Given the description of an element on the screen output the (x, y) to click on. 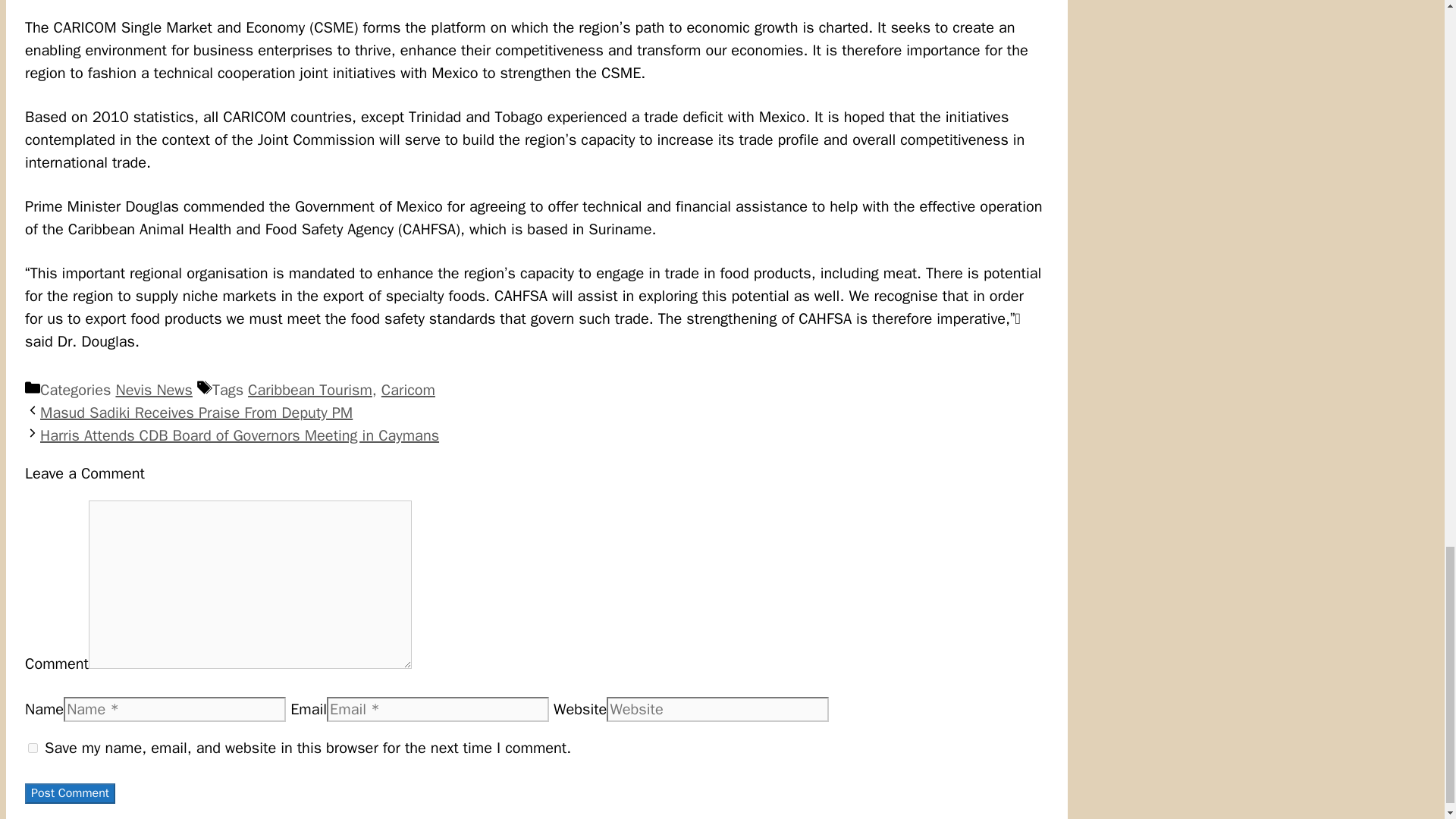
Post Comment (69, 792)
Caricom (408, 389)
Post Comment (69, 792)
Harris Attends CDB Board of Governors Meeting in Caymans (239, 435)
Nevis News (153, 389)
yes (32, 747)
Caribbean Tourism (309, 389)
Masud Sadiki Receives Praise From Deputy PM (196, 412)
